Given the description of an element on the screen output the (x, y) to click on. 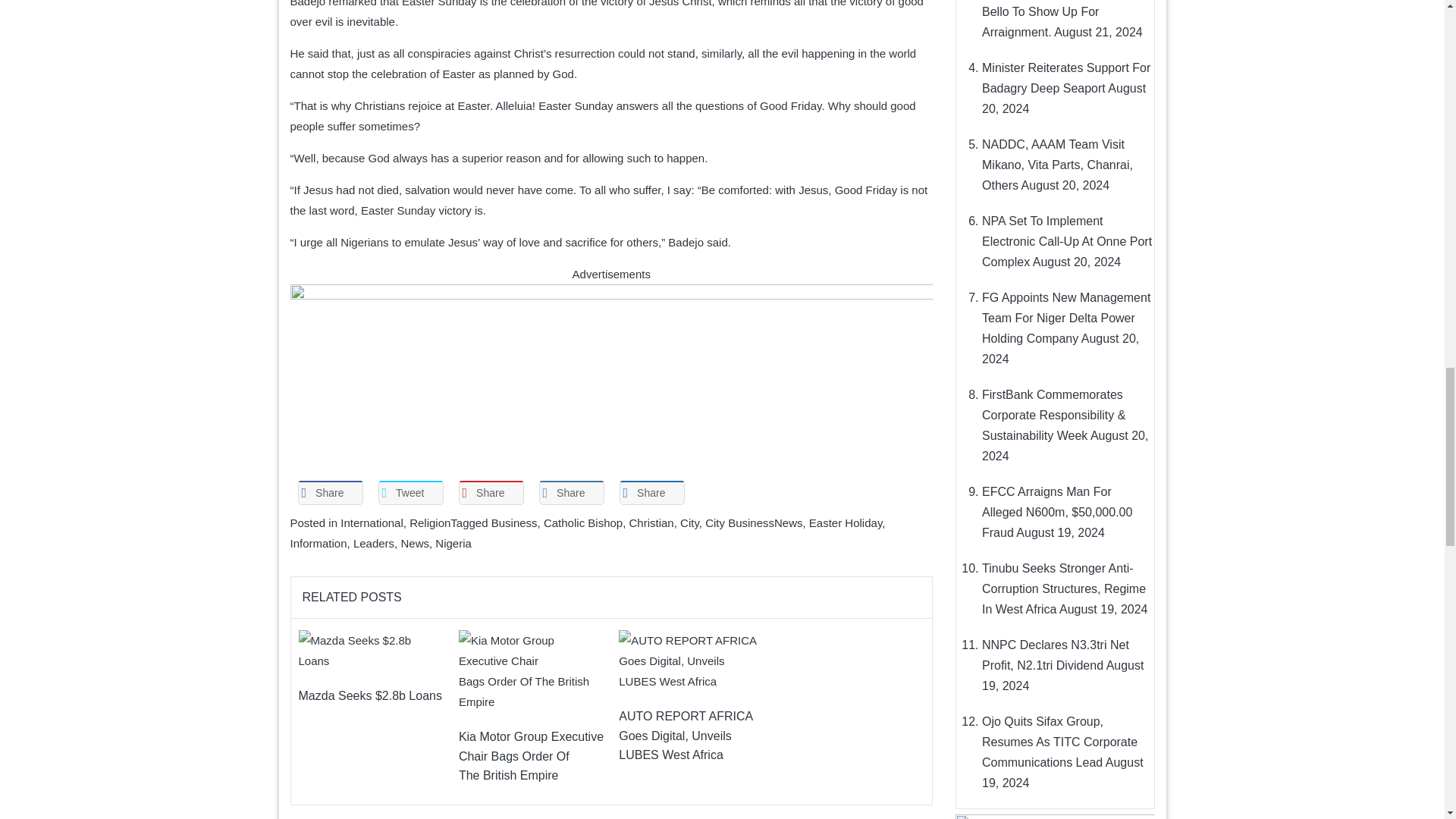
Share on LinkedIn (571, 492)
Share on Facebook (329, 492)
AUTO REPORT AFRICA Goes Digital, Unveils LUBES West Africa (690, 659)
AUTO REPORT AFRICA Goes Digital, Unveils LUBES West Africa (690, 660)
Share on Digg (651, 492)
Share on Twitter (409, 492)
Share on Pinterest (490, 492)
